Given the description of an element on the screen output the (x, y) to click on. 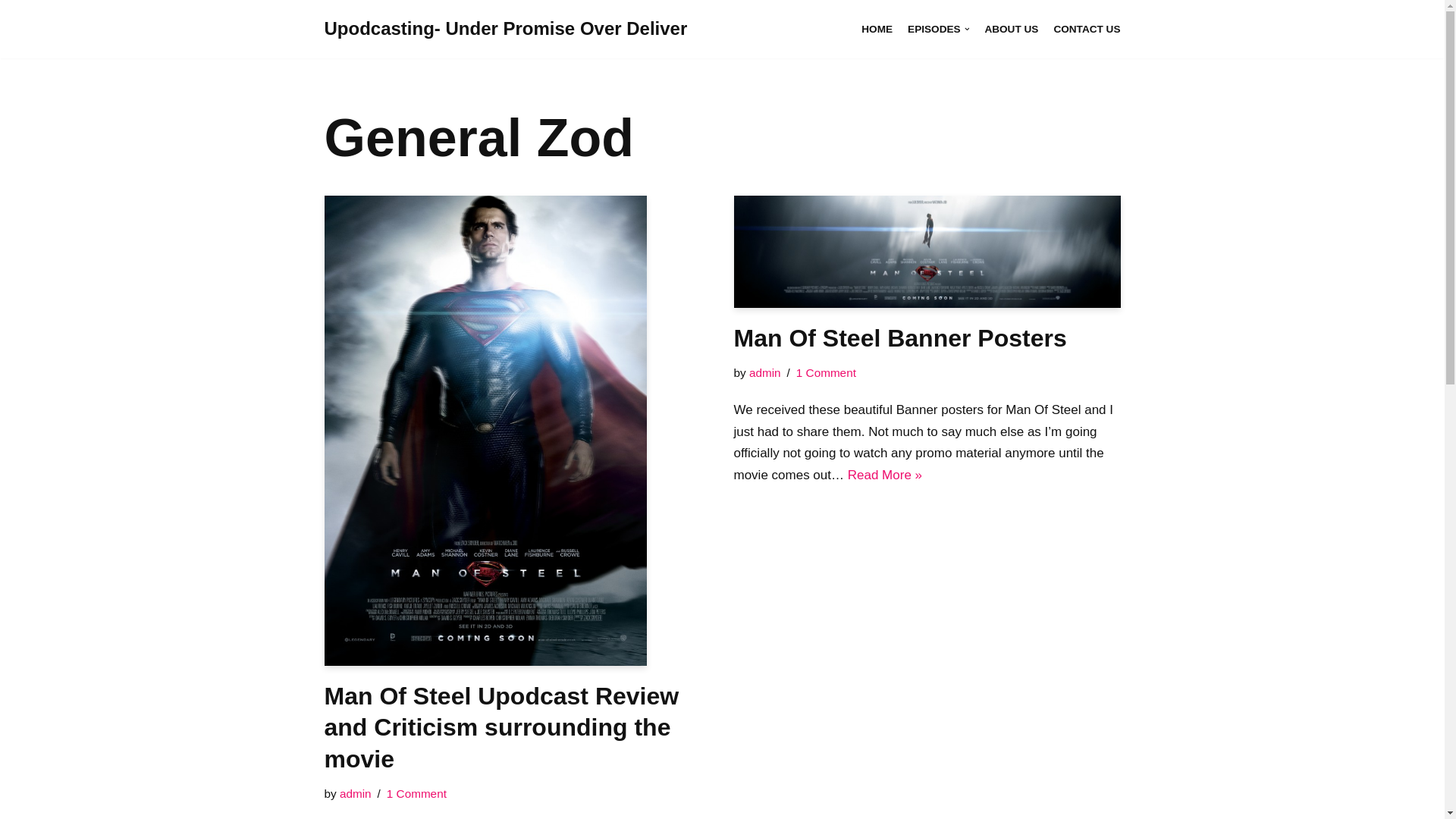
admin (764, 372)
Skip to content (11, 31)
1 Comment (416, 793)
1 Comment (826, 372)
Man Of Steel Banner Posters (900, 338)
Posts by admin (355, 793)
ABOUT US (1011, 28)
admin (355, 793)
Upodcasting- Under Promise Over Deliver (505, 29)
Posts by admin (764, 372)
Man Of Steel Banner Posters (927, 251)
EPISODES (938, 28)
